Given the description of an element on the screen output the (x, y) to click on. 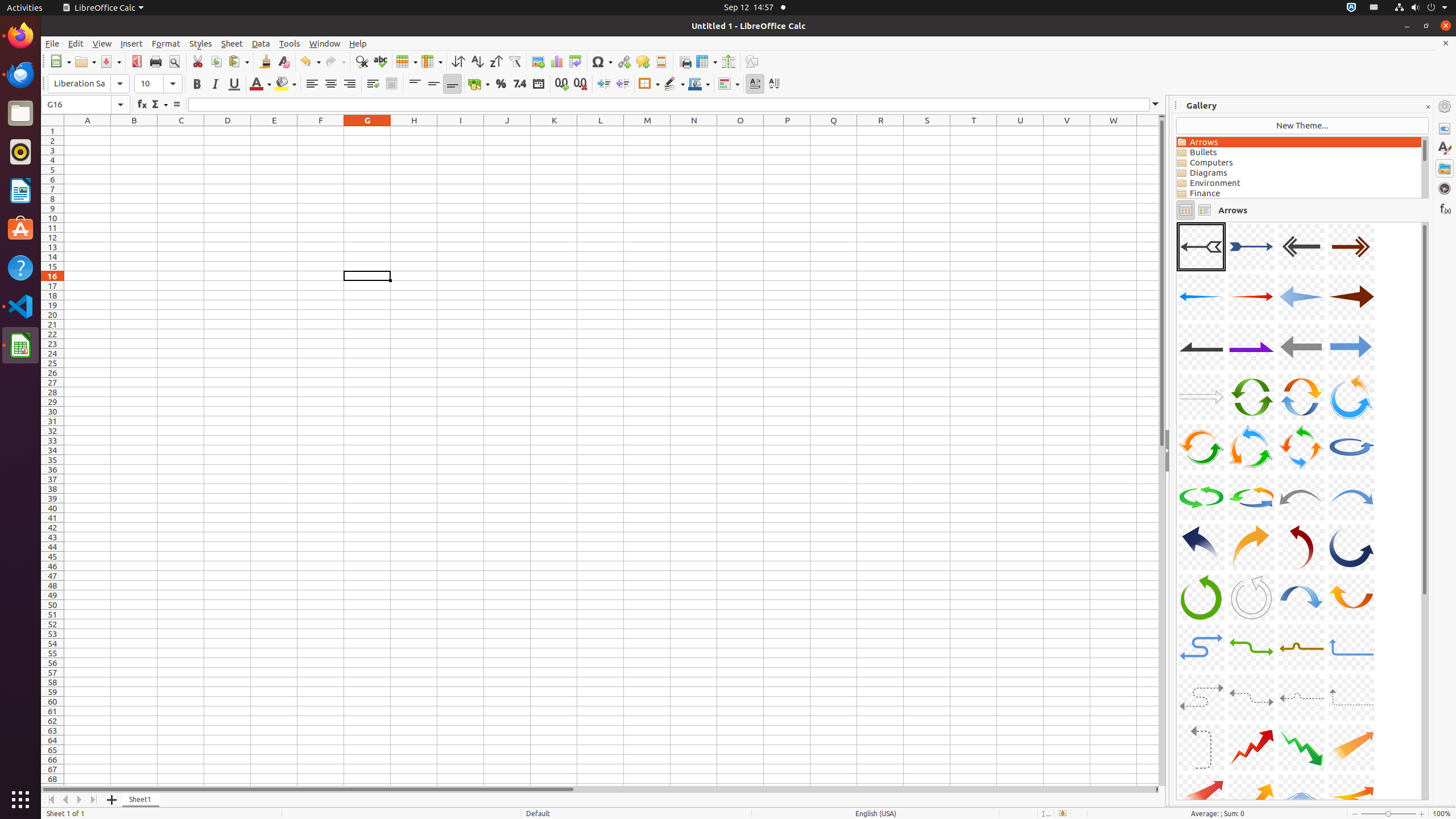
Gallery Element type: radio-button (1444, 168)
P1 Element type: table-cell (786, 130)
A41-CurvedArrow-Gray-Left Element type: list-item (1200, 746)
Close Sidebar Deck Element type: push-button (1427, 106)
Print Element type: push-button (155, 61)
